Given the description of an element on the screen output the (x, y) to click on. 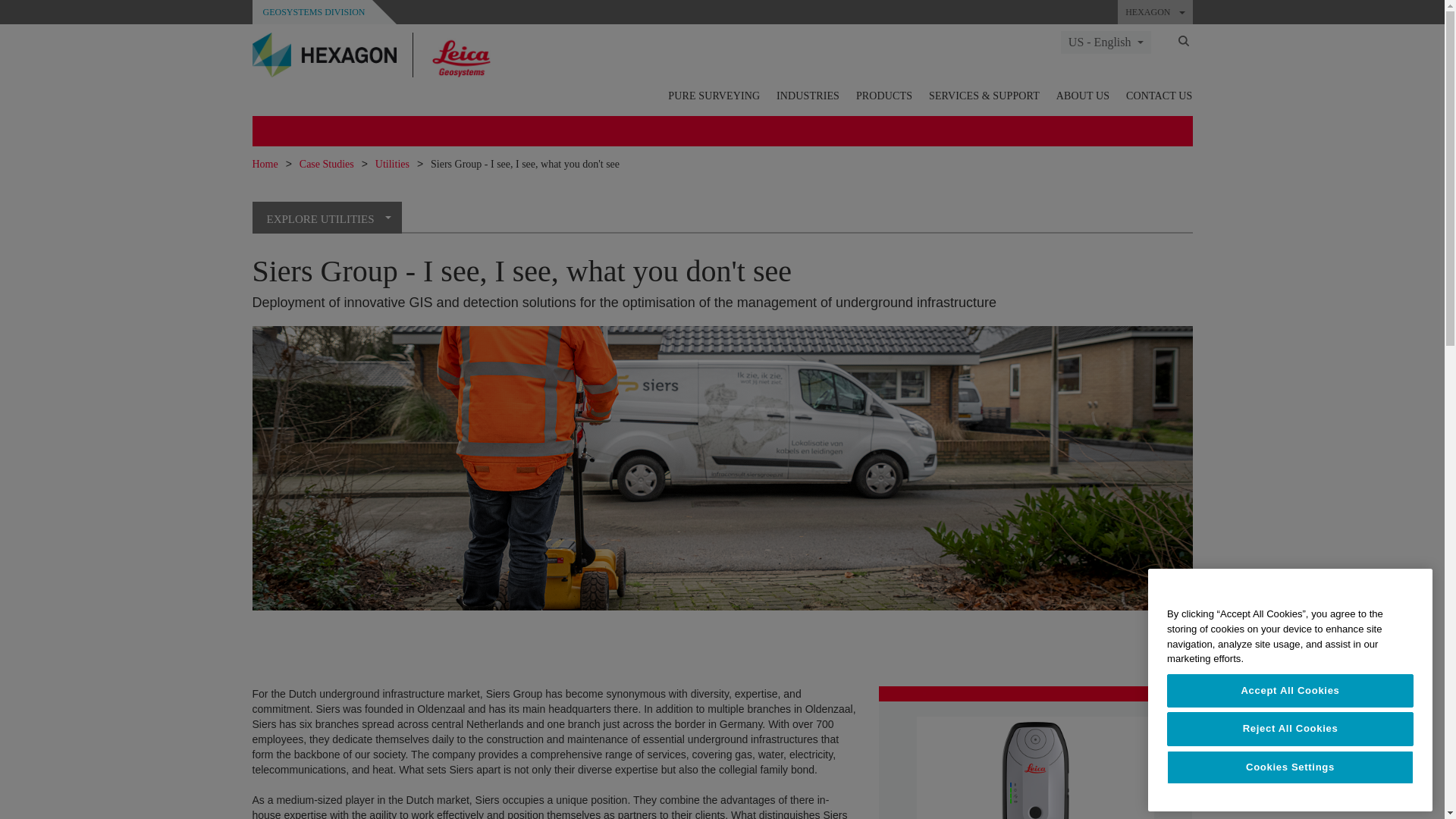
Search (1183, 40)
HEXAGON (1155, 12)
GEOSYSTEMS DIVISION (312, 11)
